Given the description of an element on the screen output the (x, y) to click on. 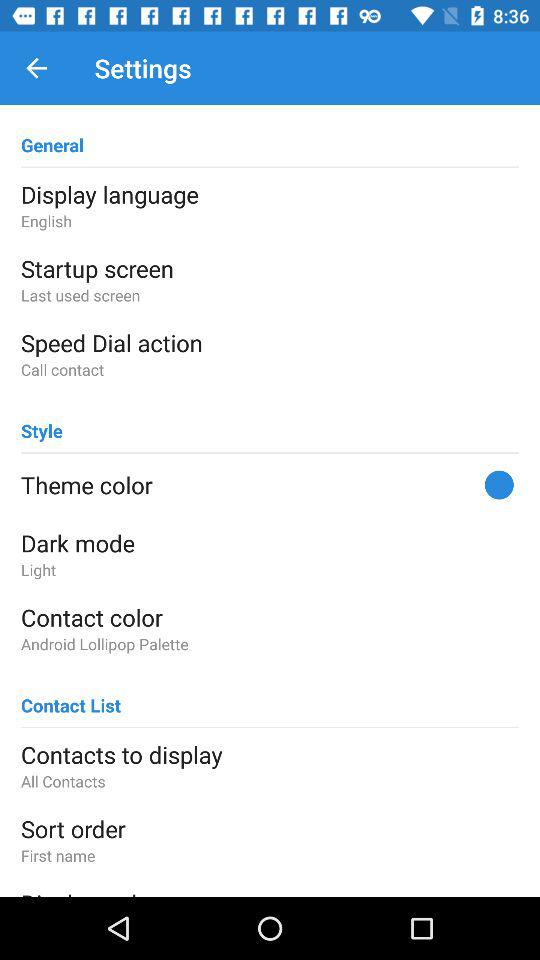
select icon above all contacts (270, 754)
